Given the description of an element on the screen output the (x, y) to click on. 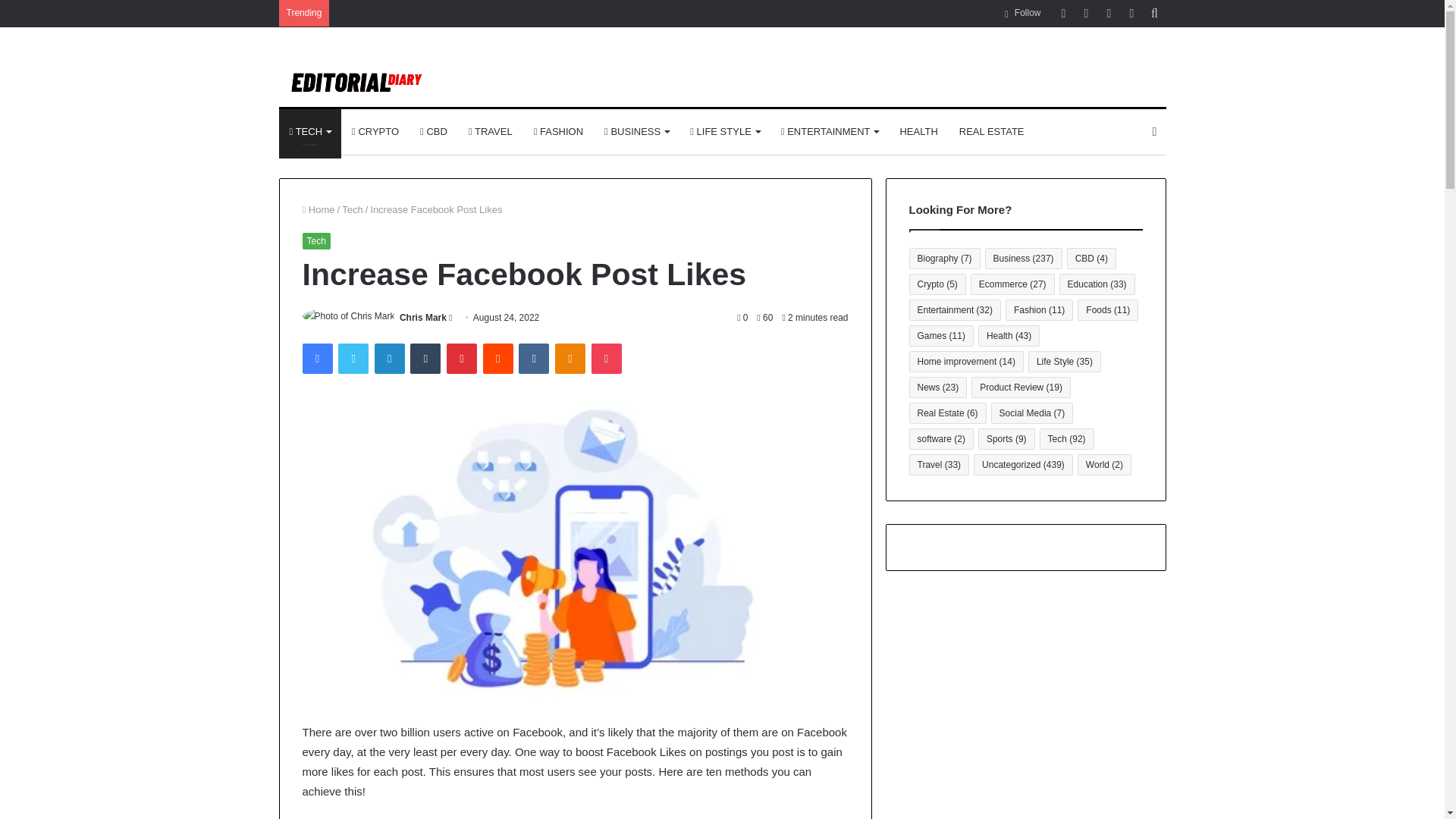
TRAVEL (490, 131)
Switch skin (1131, 13)
Switch skin (1154, 131)
ENTERTAINMENT (829, 131)
VKontakte (533, 358)
Random Article (1086, 13)
Tumblr (425, 358)
Sidebar (1109, 13)
Switch skin (1154, 131)
Switch skin (1131, 13)
Editorialdiary (373, 84)
FASHION (558, 131)
Facebook (316, 358)
REAL ESTATE (992, 131)
Random Article (1086, 13)
